Given the description of an element on the screen output the (x, y) to click on. 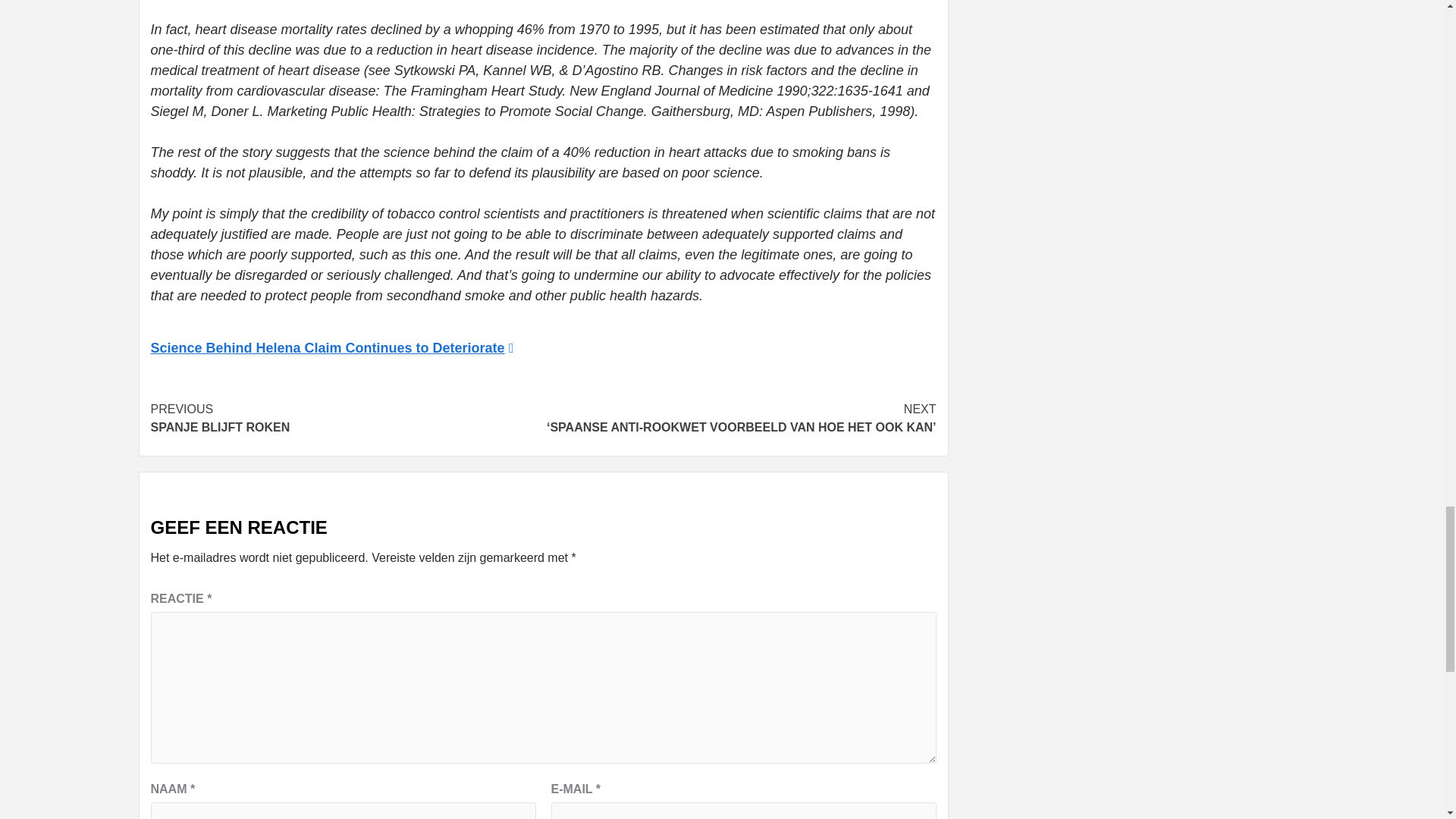
Science Behind Helena Claim Continues to Deteriorate (346, 418)
